Given the description of an element on the screen output the (x, y) to click on. 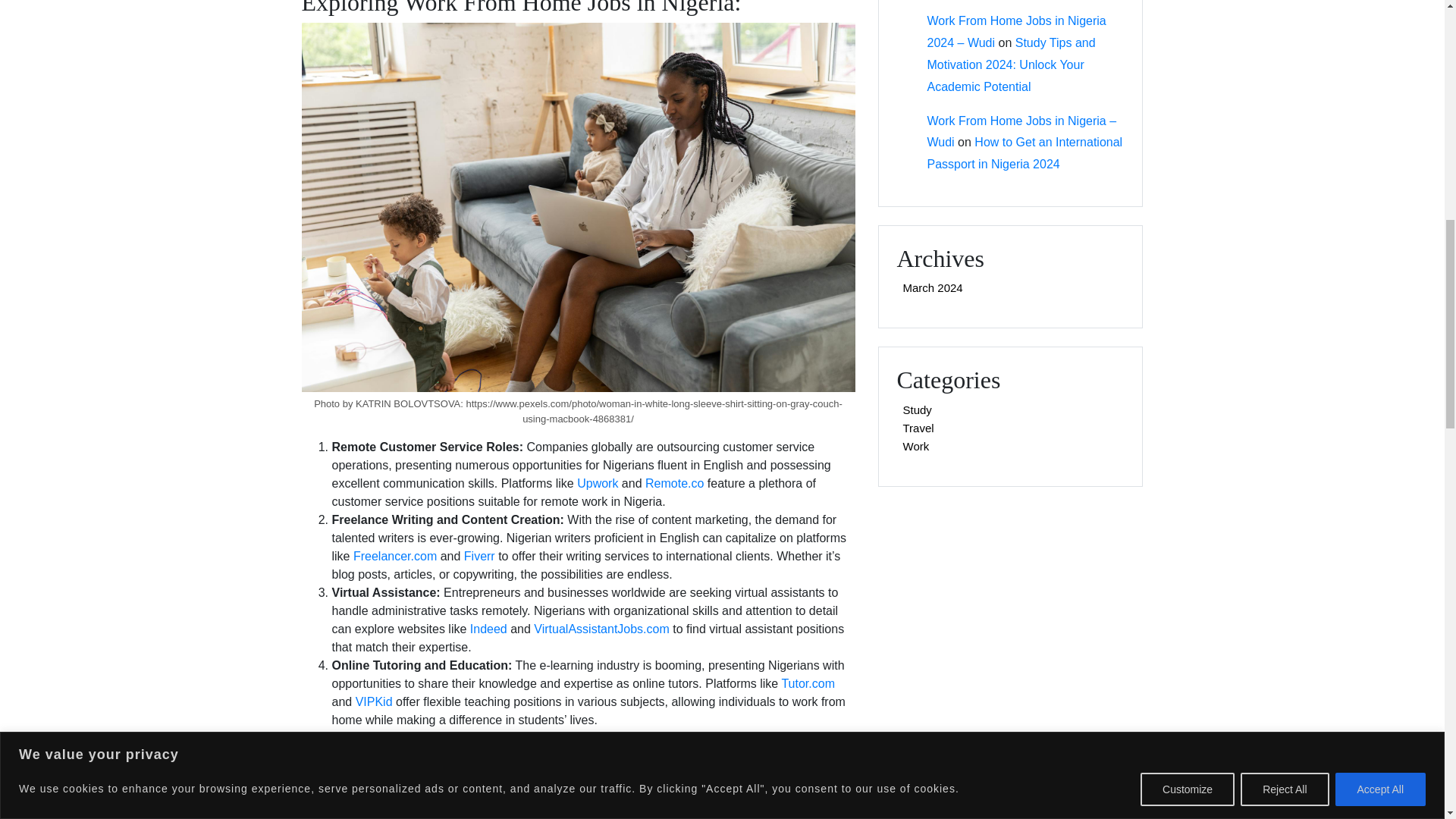
VirtualAssistantJobs.com (601, 628)
Indeed (488, 628)
Stack Overflow (581, 765)
VIPKid (374, 701)
Fiverr (479, 555)
Tutor.com (807, 683)
Freelancer.com (394, 555)
Remote.co (674, 482)
Toptal (757, 756)
Upwork (596, 482)
